Given the description of an element on the screen output the (x, y) to click on. 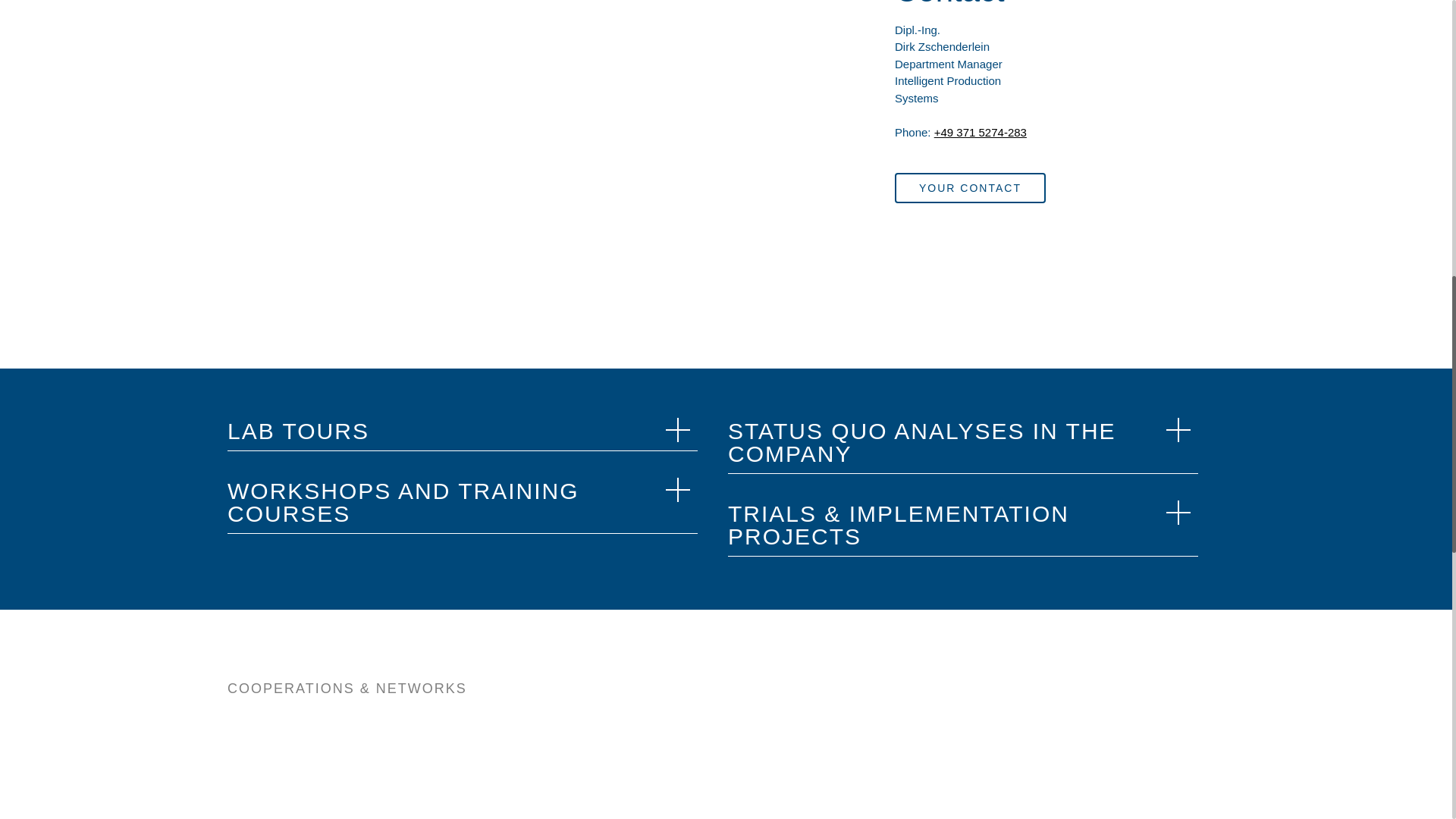
STATUS QUO ANALYSES IN THE COMPANY (963, 440)
WORKSHOPS AND TRAINING COURSES (462, 499)
YOUR CONTACT (970, 187)
LAB TOURS (462, 428)
